Given the description of an element on the screen output the (x, y) to click on. 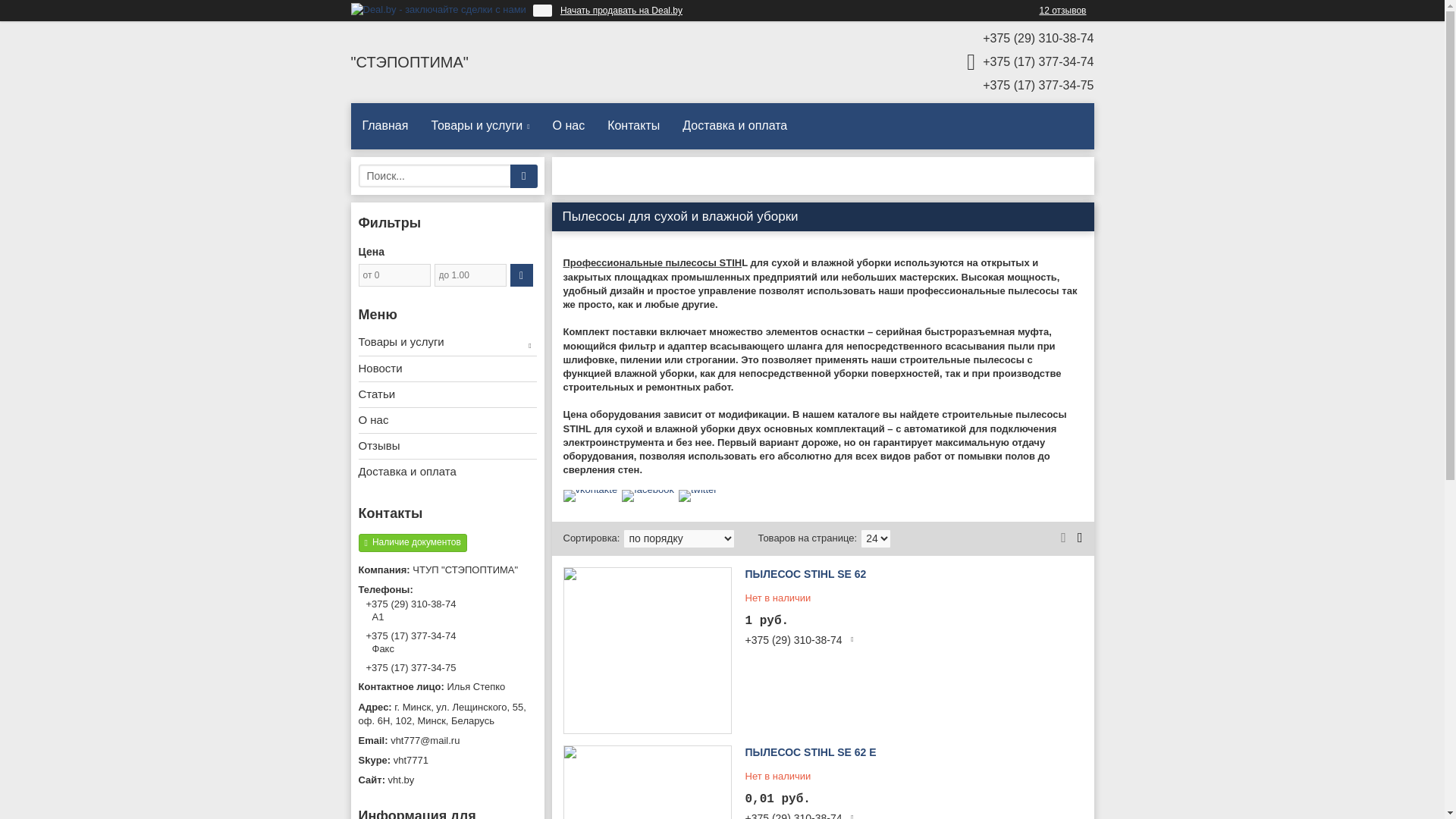
vht777@mail.ru Element type: text (446, 740)
vht.by Element type: text (446, 780)
twitter Element type: hover (697, 489)
facebook Element type: hover (647, 489)
